Given the description of an element on the screen output the (x, y) to click on. 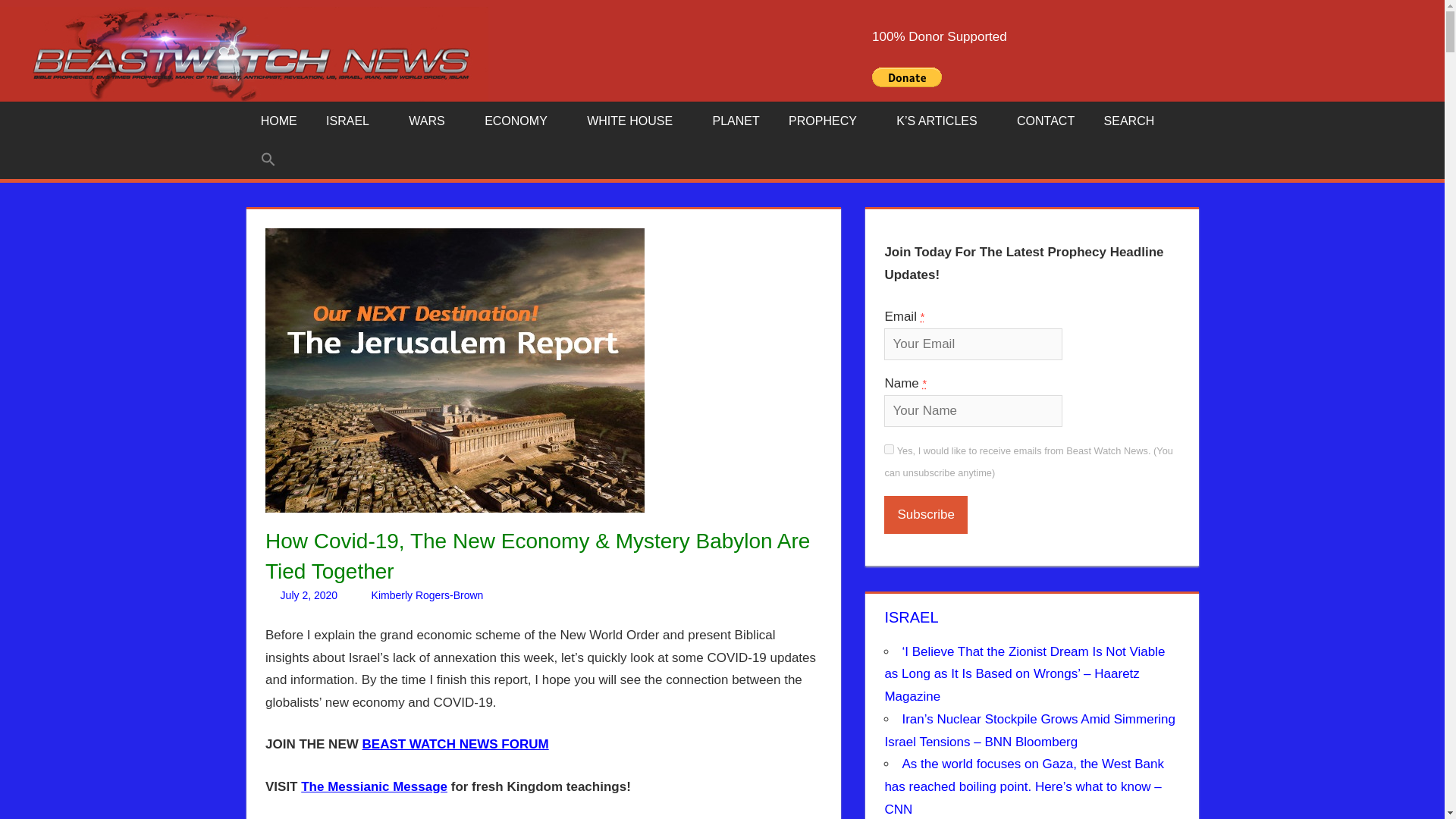
PLANET (735, 121)
View all posts by Kimberly Rogers-Brown (427, 594)
Subscribe (925, 514)
Beast Watch News Home Page (278, 121)
WHITE HOUSE (634, 121)
HOME (278, 121)
1 (888, 449)
ECONOMY (521, 121)
ISRAEL (352, 121)
12:26 pm (309, 594)
